Given the description of an element on the screen output the (x, y) to click on. 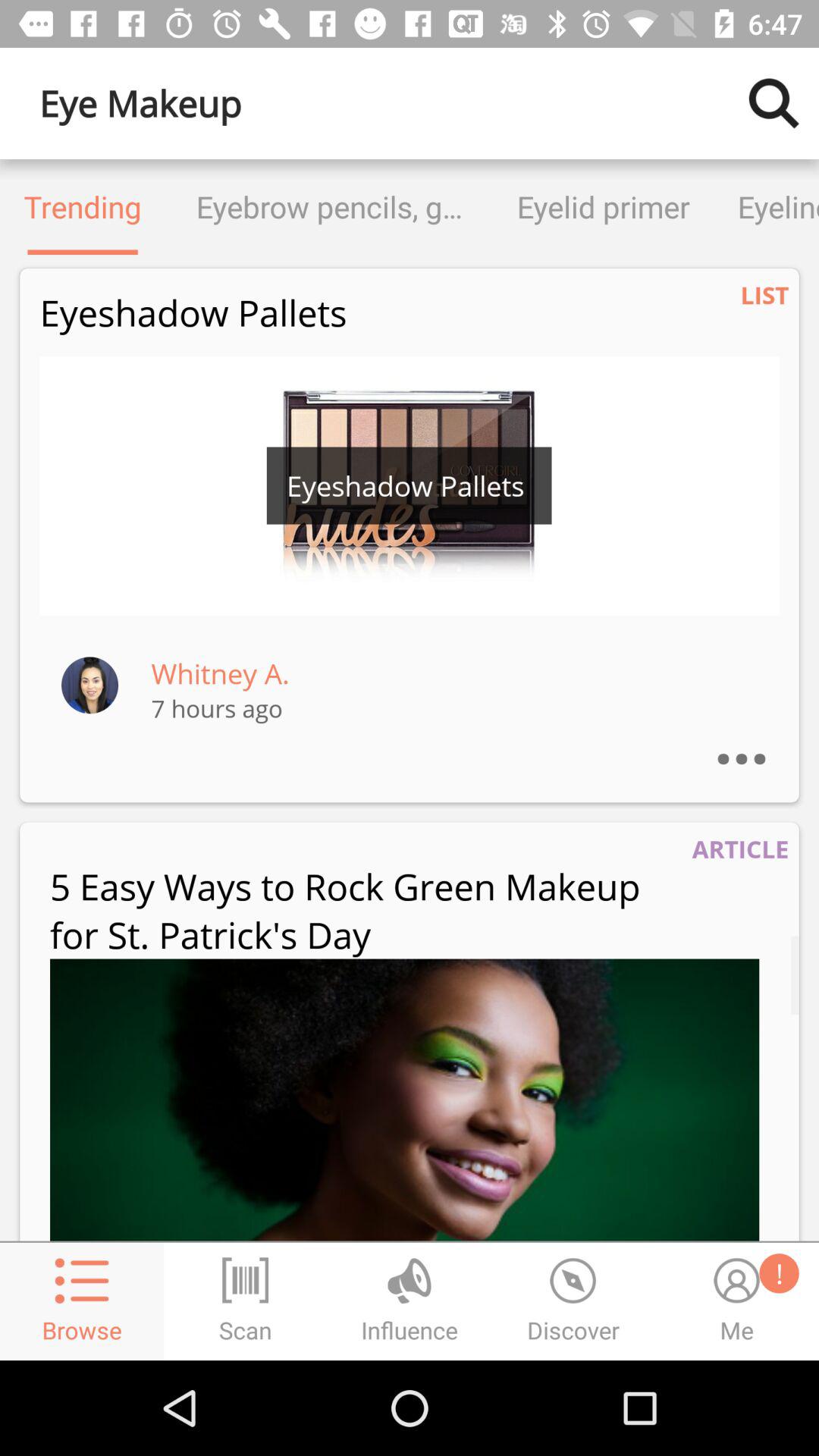
tap item next to 5 easy ways (740, 848)
